Given the description of an element on the screen output the (x, y) to click on. 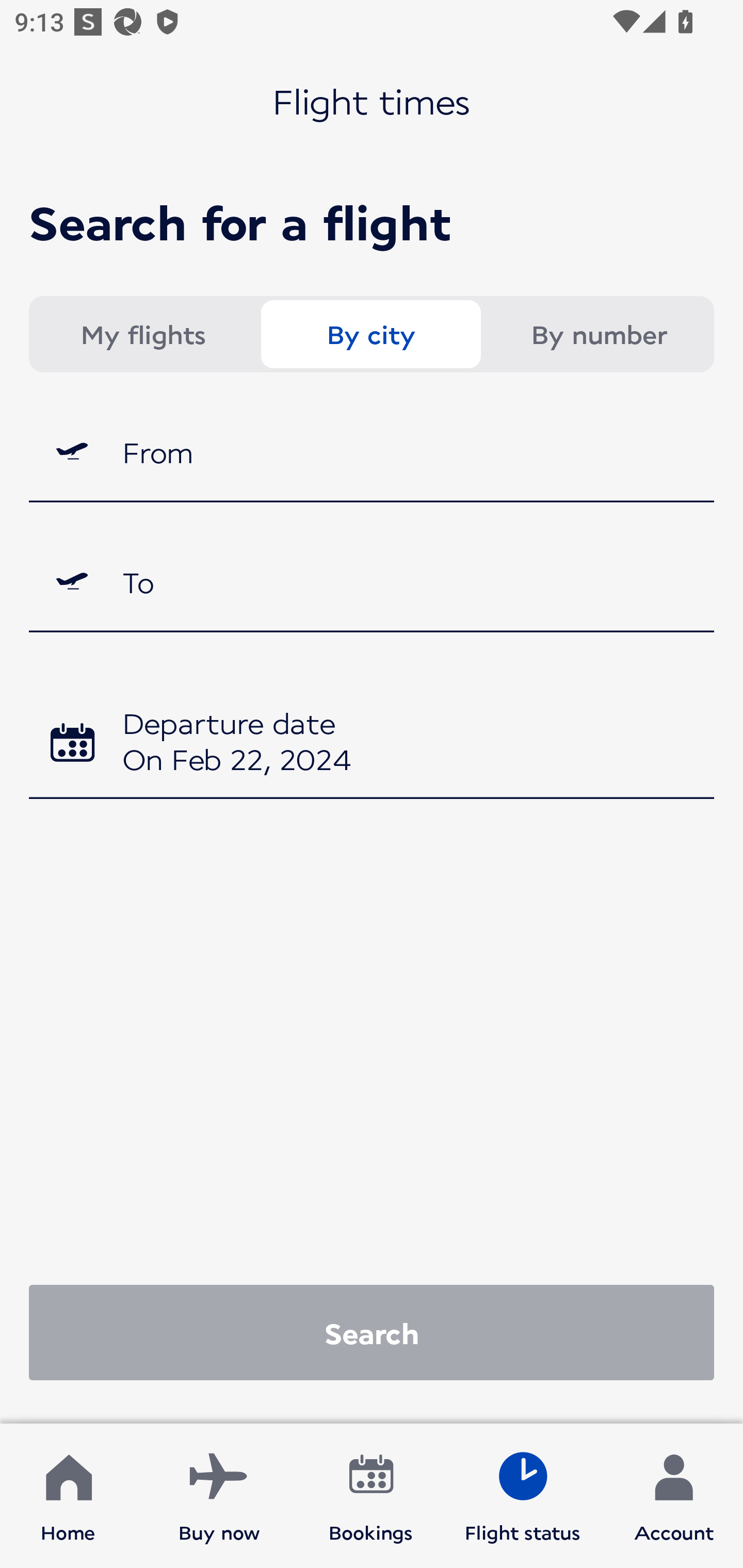
My flights (142, 334)
By city (370, 334)
By number (598, 334)
From (371, 451)
To (371, 581)
On Feb 22, 2024 Departure date (371, 744)
Search (371, 1331)
Home (68, 1495)
Buy now (219, 1495)
Bookings (370, 1495)
Account (674, 1495)
